Given the description of an element on the screen output the (x, y) to click on. 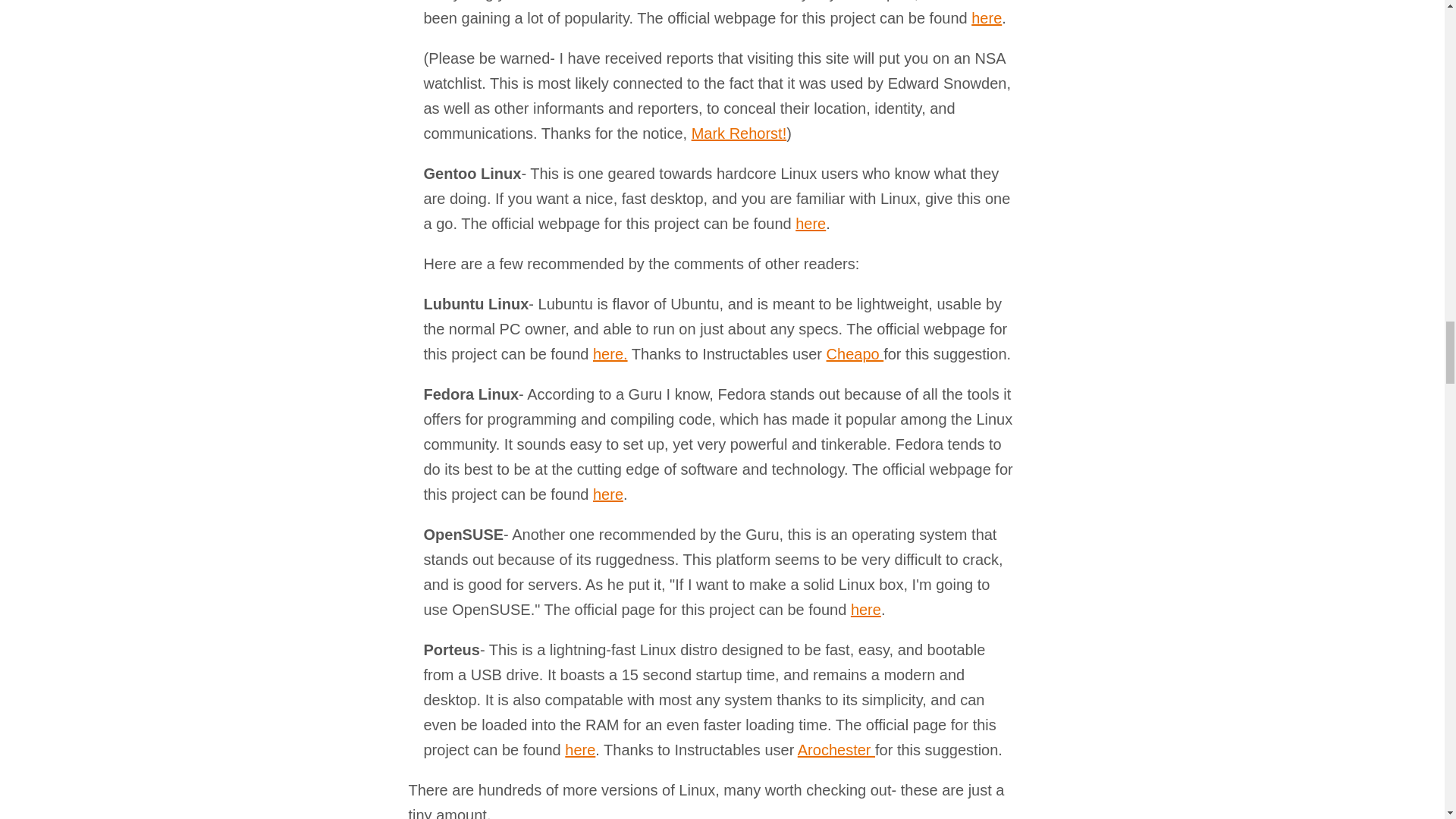
Mark Rehorst! (739, 133)
here. (609, 353)
here (579, 750)
here (865, 609)
here (809, 223)
here (986, 17)
here (607, 494)
Cheapo (855, 353)
